Given the description of an element on the screen output the (x, y) to click on. 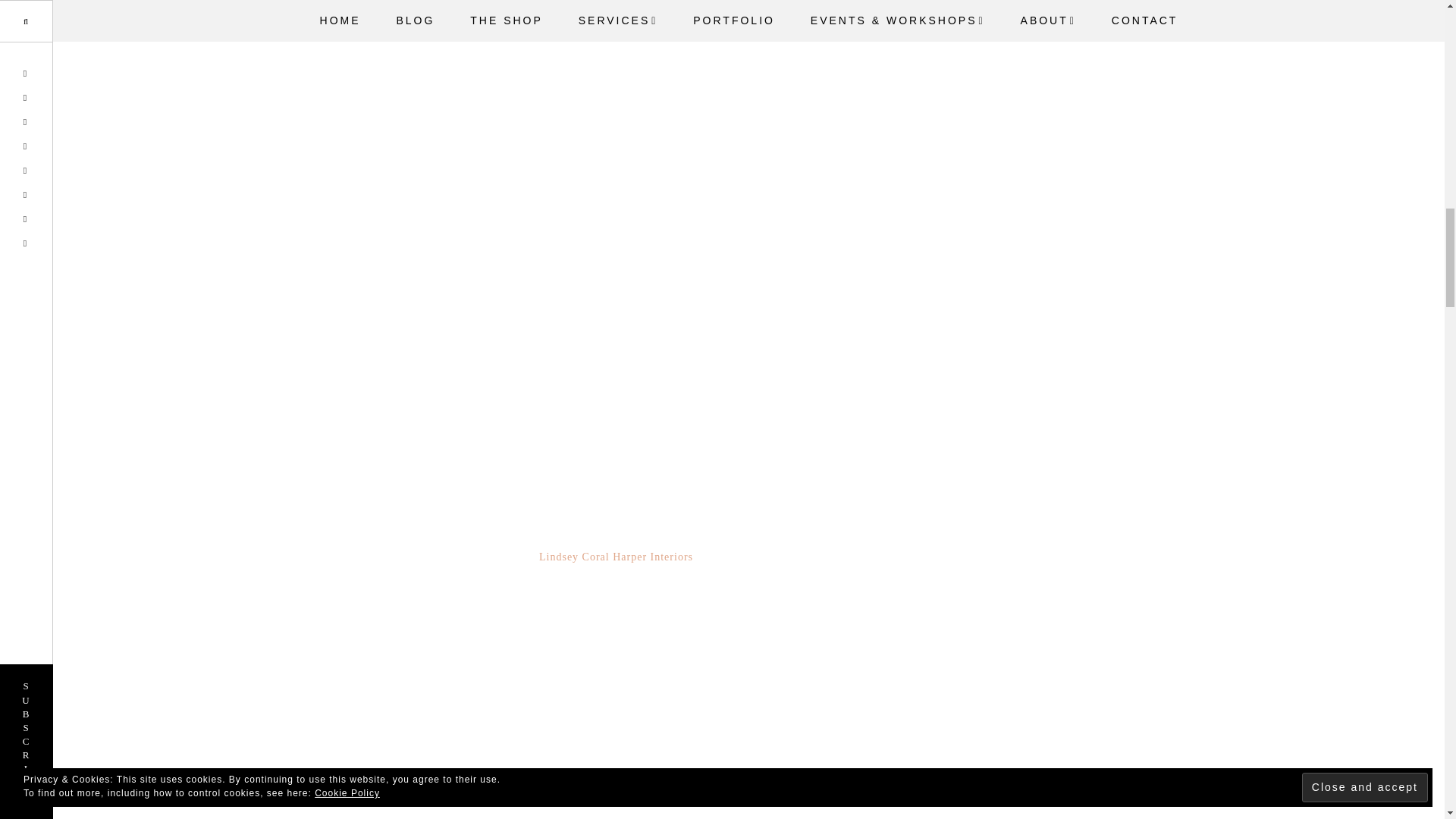
Lilly Bunn Interior (613, 8)
Lindsey Coral Harper Interiors (615, 556)
